Given the description of an element on the screen output the (x, y) to click on. 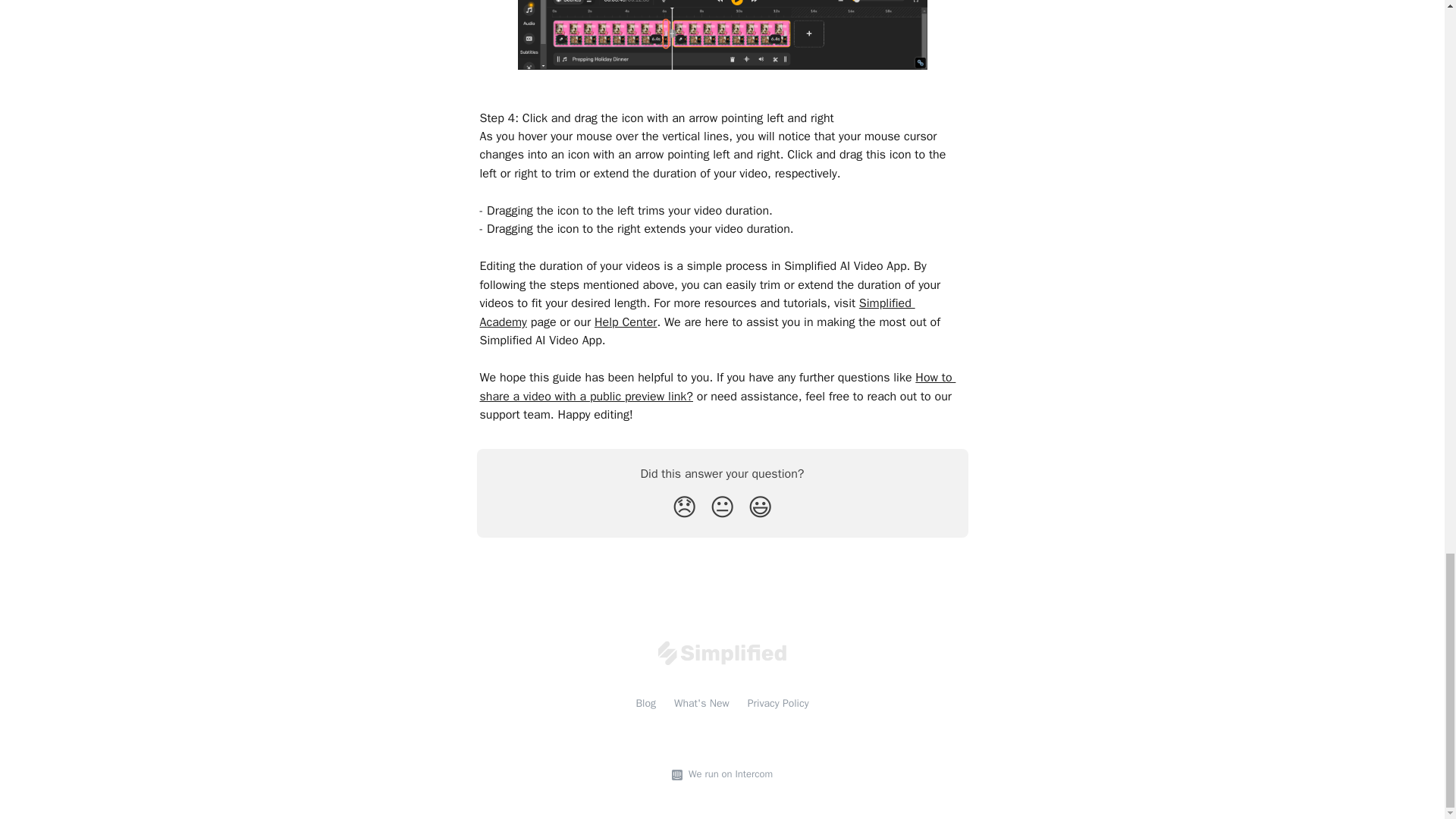
Help Center (625, 322)
Simplified Academy (696, 312)
Privacy Policy (778, 703)
Blog (645, 703)
What's New (701, 703)
How to share a video with a public preview link? (717, 386)
We run on Intercom (727, 774)
